Given the description of an element on the screen output the (x, y) to click on. 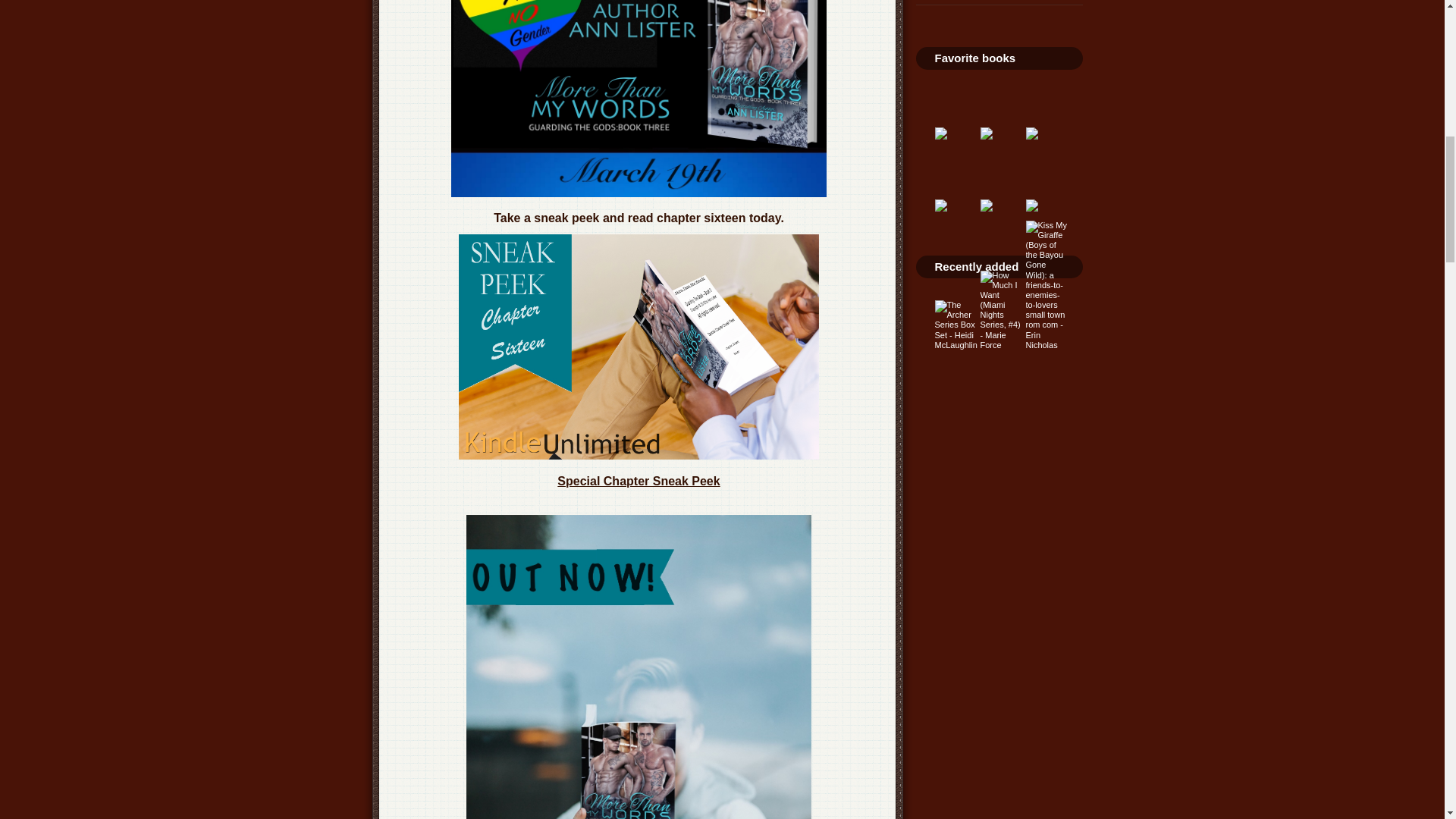
Special Chapter Sneak Peek (638, 481)
